Given the description of an element on the screen output the (x, y) to click on. 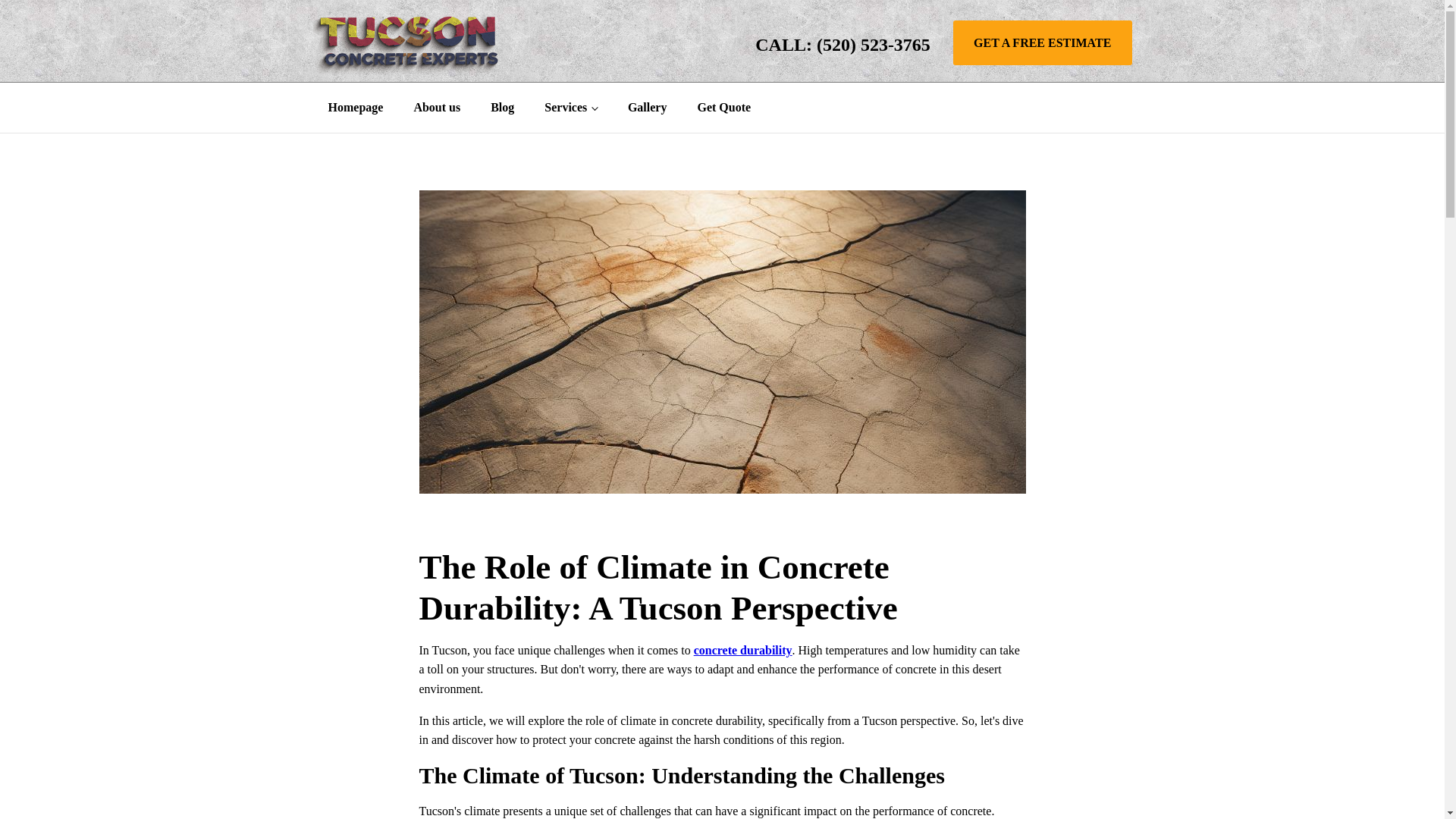
concrete durability (743, 649)
Homepage (355, 107)
Services (570, 107)
Gallery (647, 107)
About us (436, 107)
GET A FREE ESTIMATE (1042, 43)
Blog (502, 107)
Get Quote (723, 107)
